Given the description of an element on the screen output the (x, y) to click on. 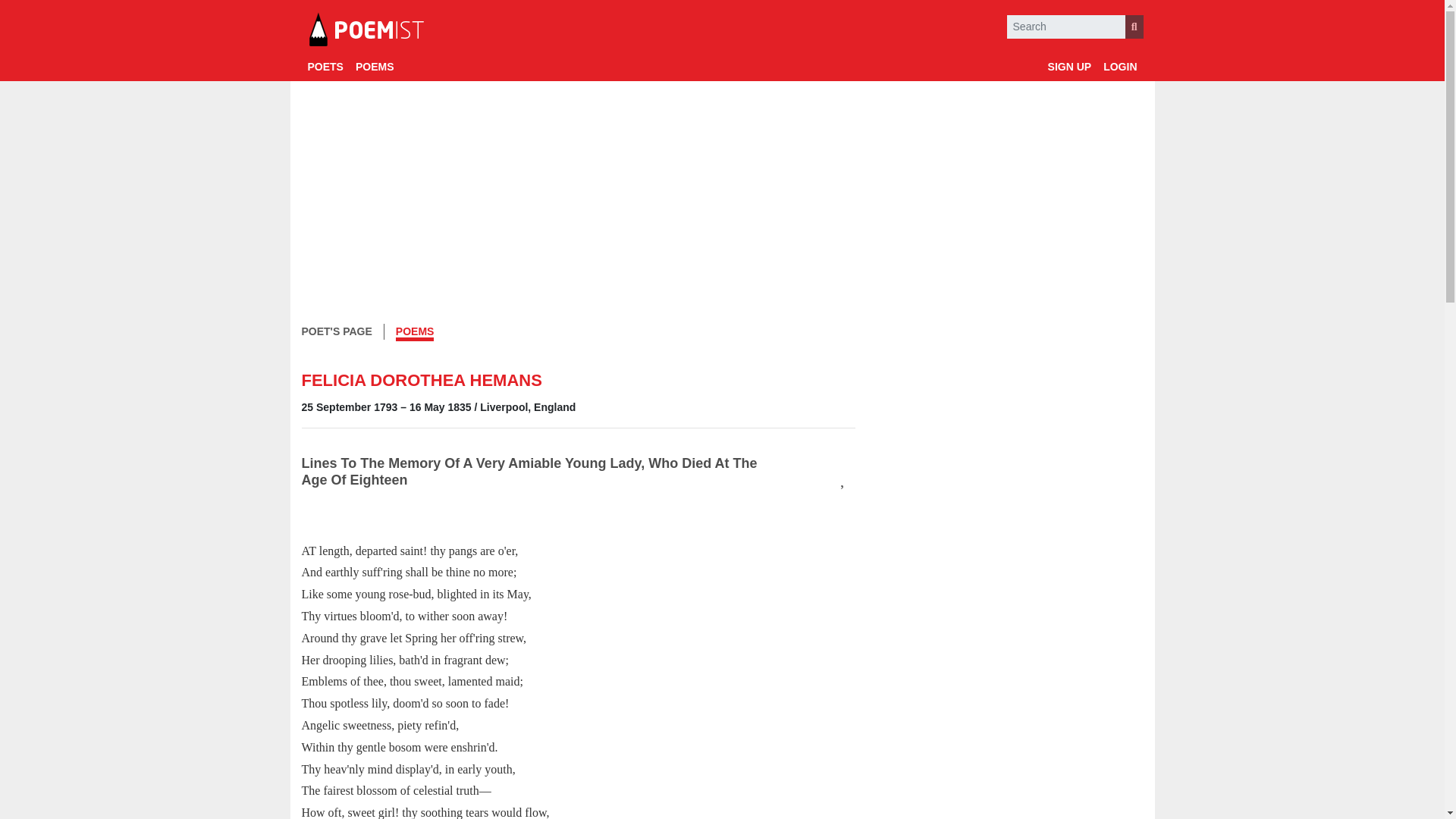
POET'S PAGE (336, 331)
Login (1119, 67)
Poems (374, 67)
POEMS (374, 67)
LOGIN (1119, 67)
Poems of Felicia Dorothea Hemans (414, 333)
POETS (325, 67)
Advertisement (1009, 429)
POEMS (414, 333)
Poets (325, 67)
Sign Up (1069, 67)
SIGN UP (1069, 67)
Poemist - All About Poems and Poetry (365, 30)
Felicia Dorothea Hemans (336, 331)
